Given the description of an element on the screen output the (x, y) to click on. 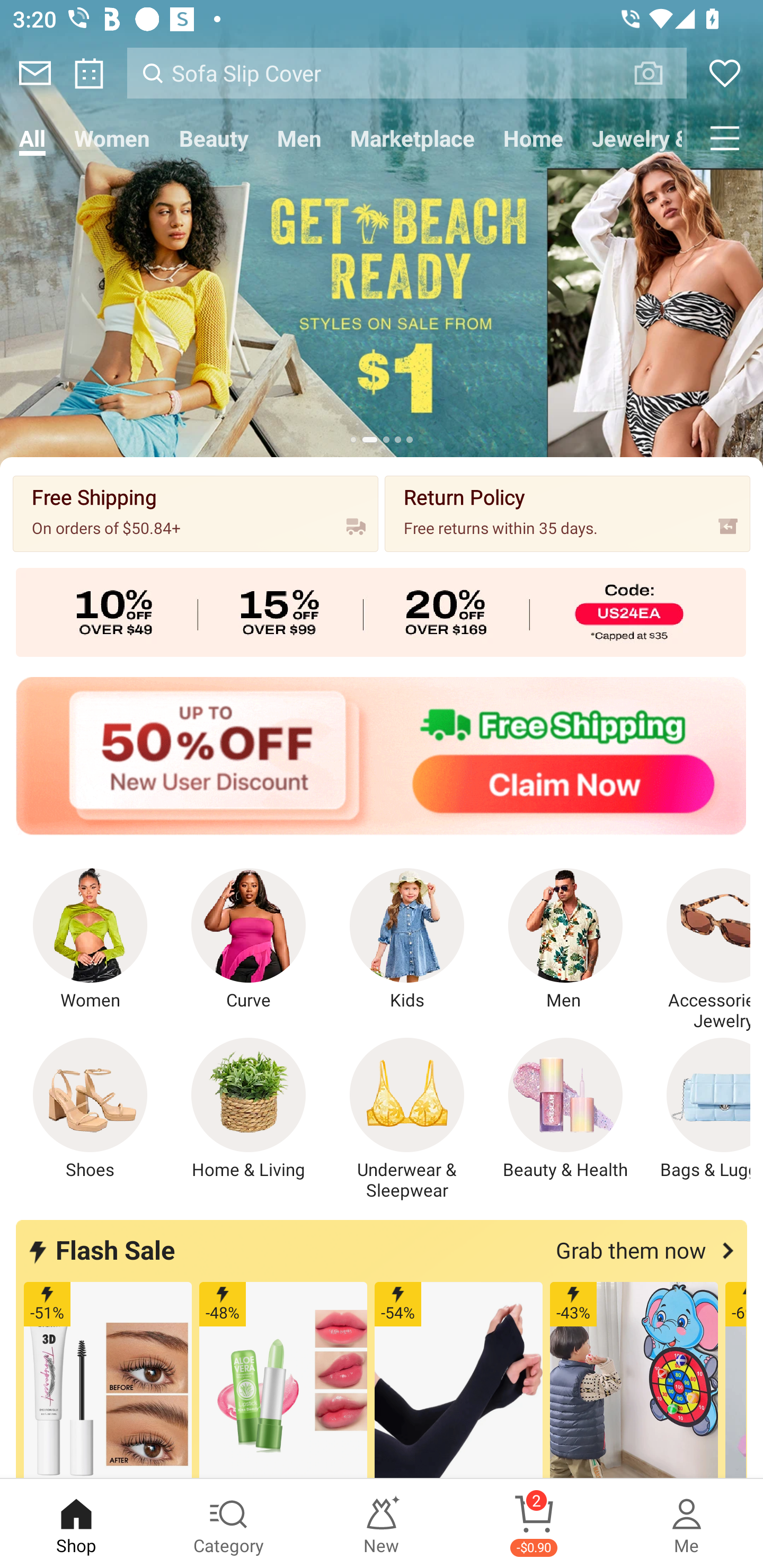
Wishlist (724, 72)
VISUAL SEARCH (657, 72)
All (31, 137)
Women (111, 137)
Beauty (213, 137)
Men (298, 137)
Marketplace (412, 137)
Home (533, 137)
Jewelry & Accs (631, 137)
Free Shipping On orders of $50.84+ (195, 513)
Return Policy Free returns within 35 days. (567, 513)
Women (89, 939)
Curve (248, 939)
Kids (406, 939)
Men  (565, 939)
Accessories & Jewelry (698, 949)
Shoes (89, 1109)
Home & Living (248, 1109)
Underwear & Sleepwear (406, 1119)
Beauty & Health (565, 1109)
Bags & Luggage (698, 1109)
Category (228, 1523)
New (381, 1523)
Cart 2 -$0.90 (533, 1523)
Me (686, 1523)
